Given the description of an element on the screen output the (x, y) to click on. 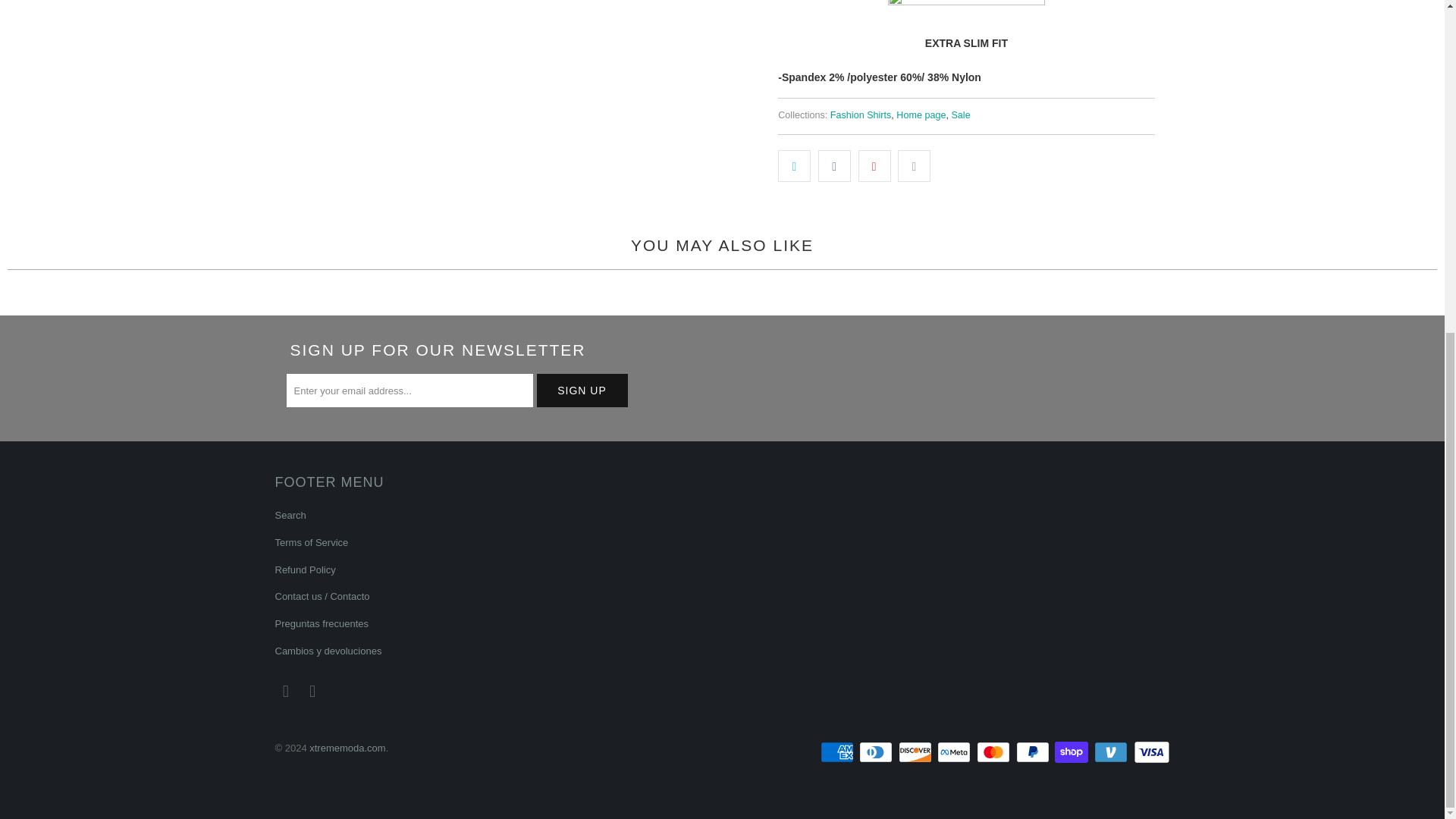
Fashion Shirts (860, 114)
Meta Pay (955, 752)
Share this on Facebook (834, 165)
PayPal (1034, 752)
Share this on Pinterest (875, 165)
xtrememoda.com on Instagram (312, 691)
Mastercard (994, 752)
Diners Club (877, 752)
Discover (916, 752)
Sale (959, 114)
Home page (920, 114)
Sign Up (582, 390)
American Express (839, 752)
Email this to a friend (914, 165)
Visa (1150, 752)
